Given the description of an element on the screen output the (x, y) to click on. 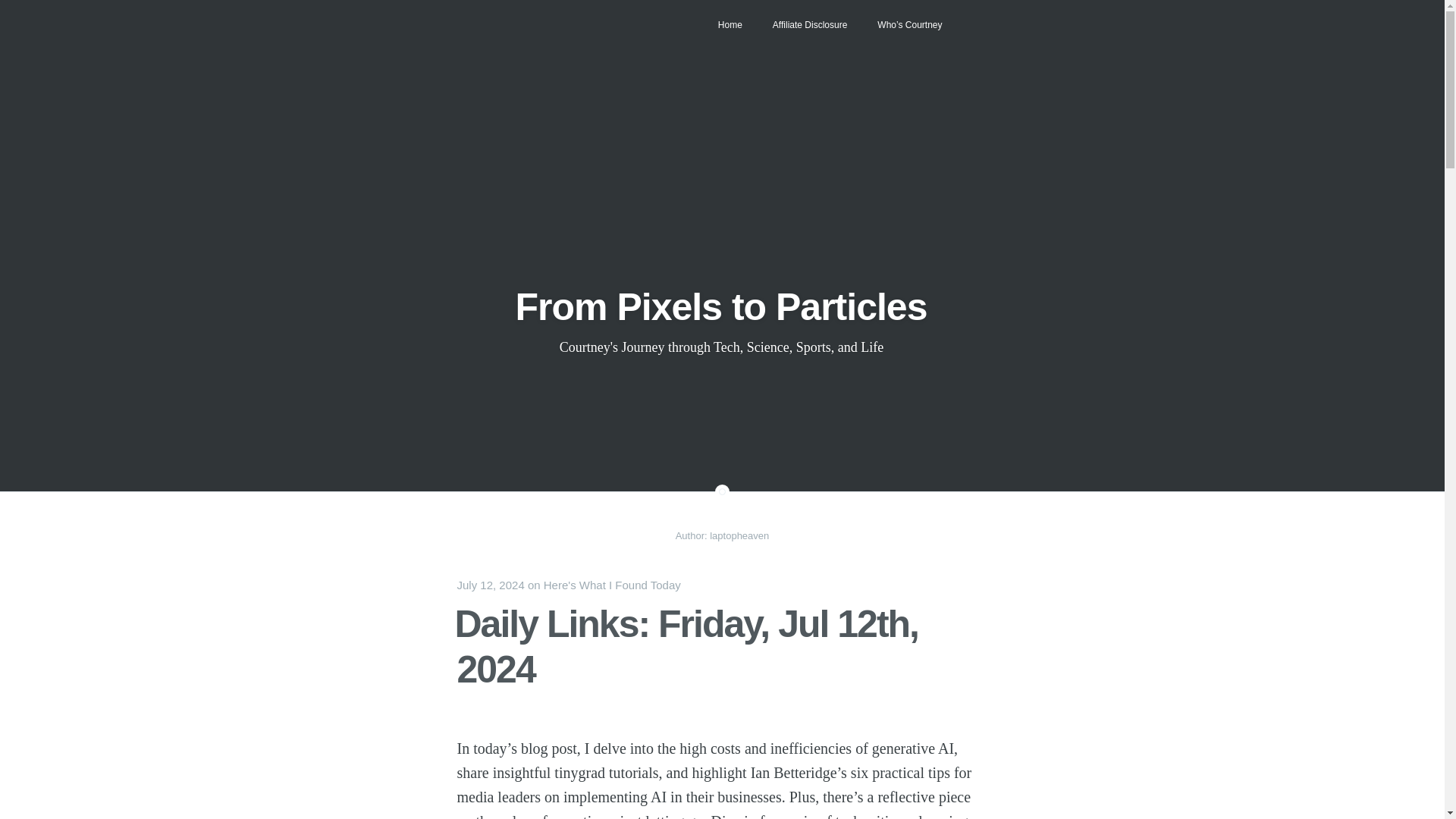
From Pixels to Particles (721, 306)
Daily Links: Friday, Jul 12th, 2024 (686, 646)
Here's What I Found Today (612, 584)
Affiliate Disclosure (809, 24)
Home (730, 24)
Skip to content (472, 12)
July 12, 2024 (490, 584)
